Given the description of an element on the screen output the (x, y) to click on. 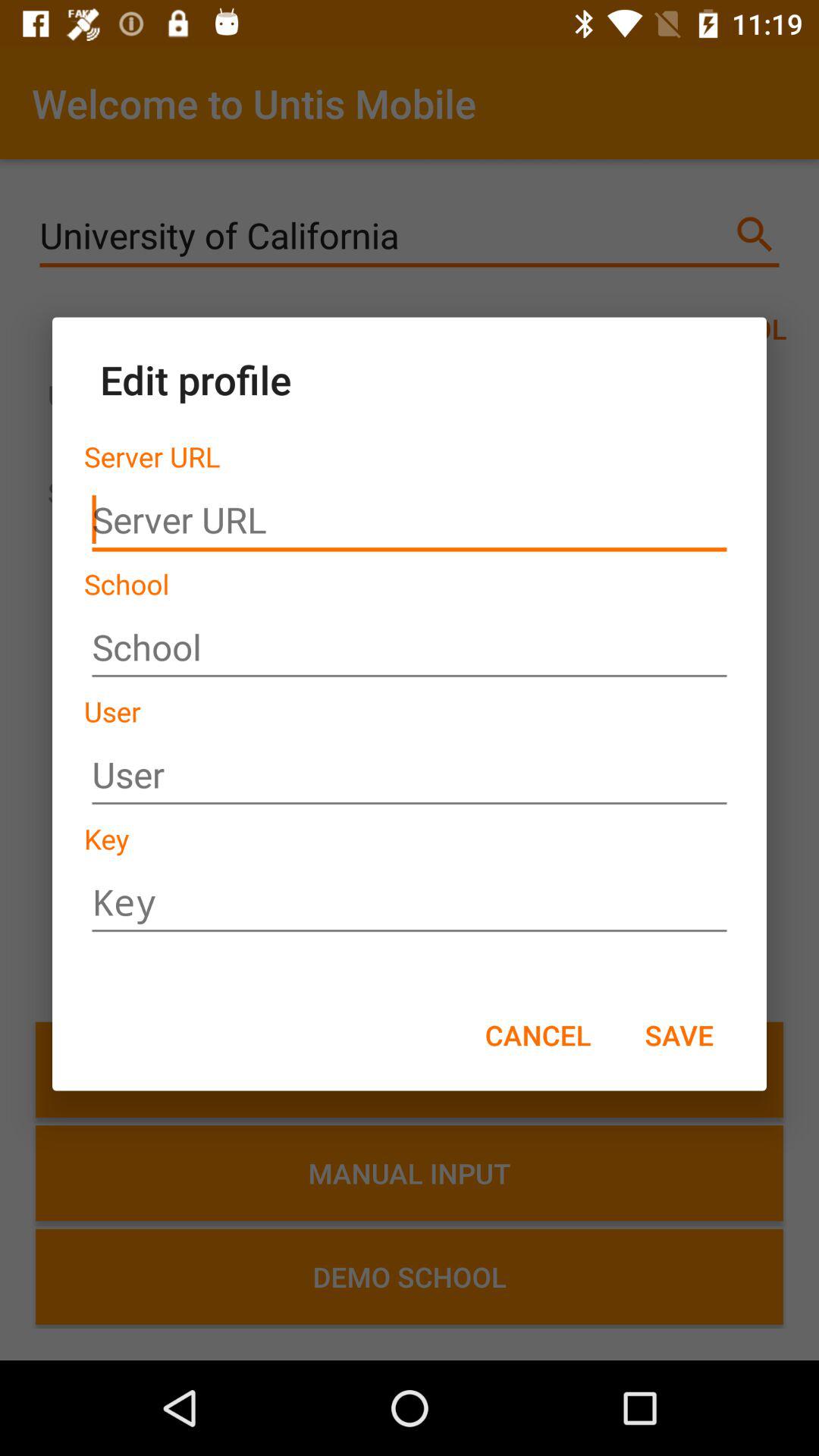
choose cancel (538, 1034)
